Given the description of an element on the screen output the (x, y) to click on. 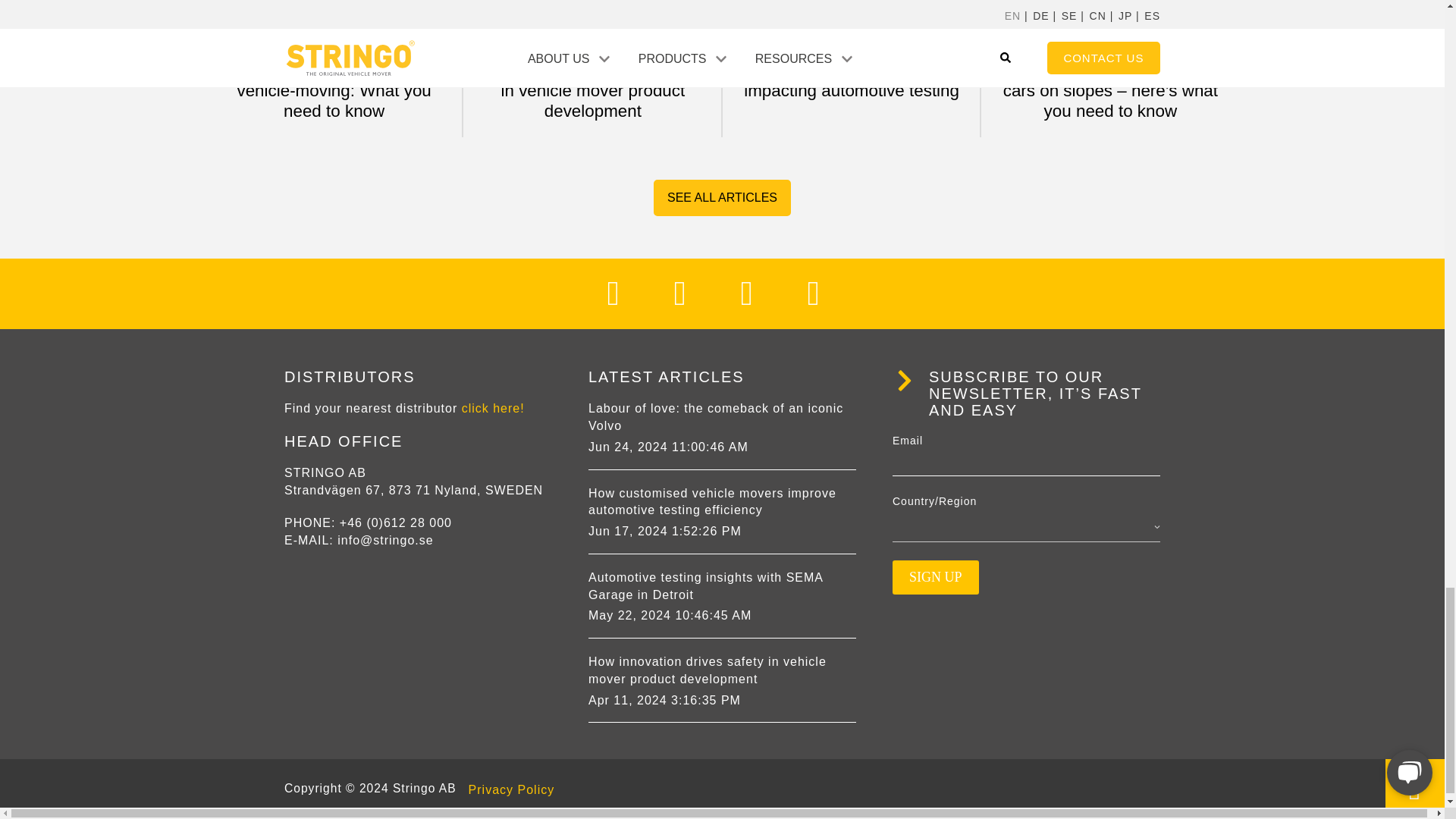
Sign up (935, 577)
